Given the description of an element on the screen output the (x, y) to click on. 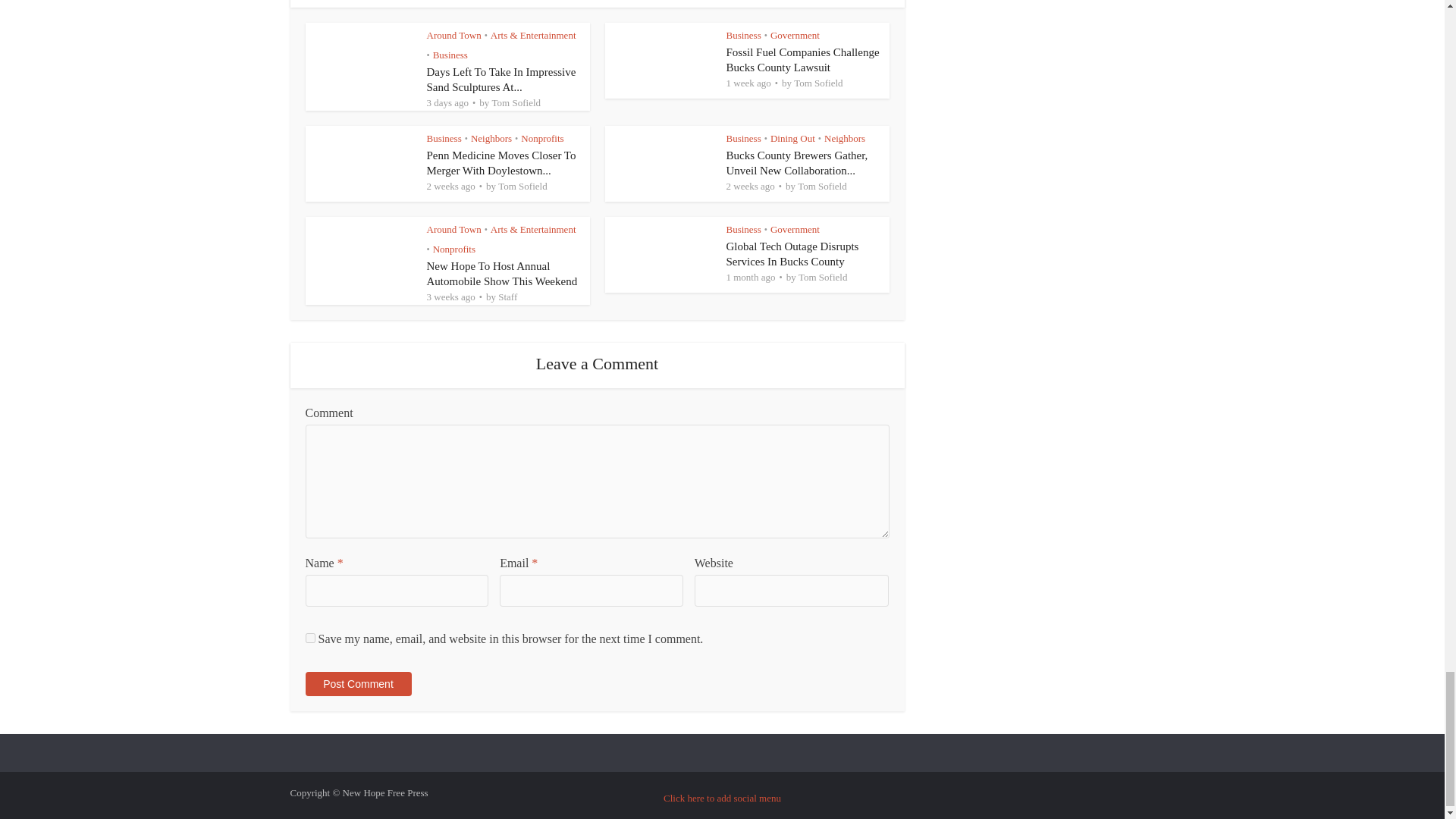
Business (449, 54)
yes (309, 637)
Business (743, 34)
Government (794, 34)
Penn Medicine Moves Closer To Merger With Doylestown Health (500, 162)
Fossil Fuel Companies Challenge Bucks County Lawsuit (802, 59)
Tom Sofield (516, 102)
Days Left To Take In Impressive Sand Sculptures At... (500, 79)
New Hope To Host Annual Automobile Show This Weekend (501, 273)
Global Tech Outage Disrupts Services In Bucks County (792, 253)
